Given the description of an element on the screen output the (x, y) to click on. 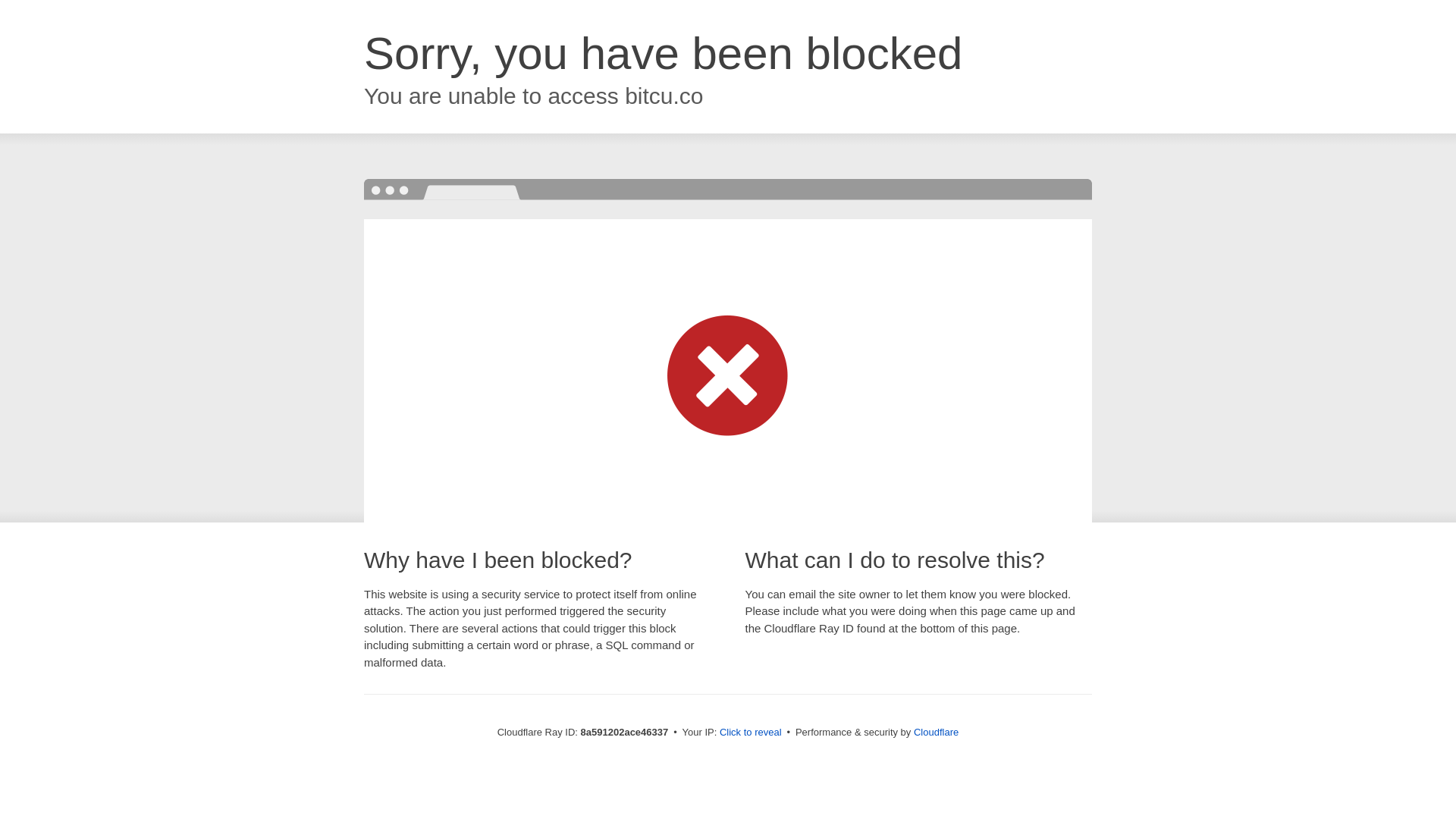
Cloudflare (936, 731)
Click to reveal (750, 732)
